Given the description of an element on the screen output the (x, y) to click on. 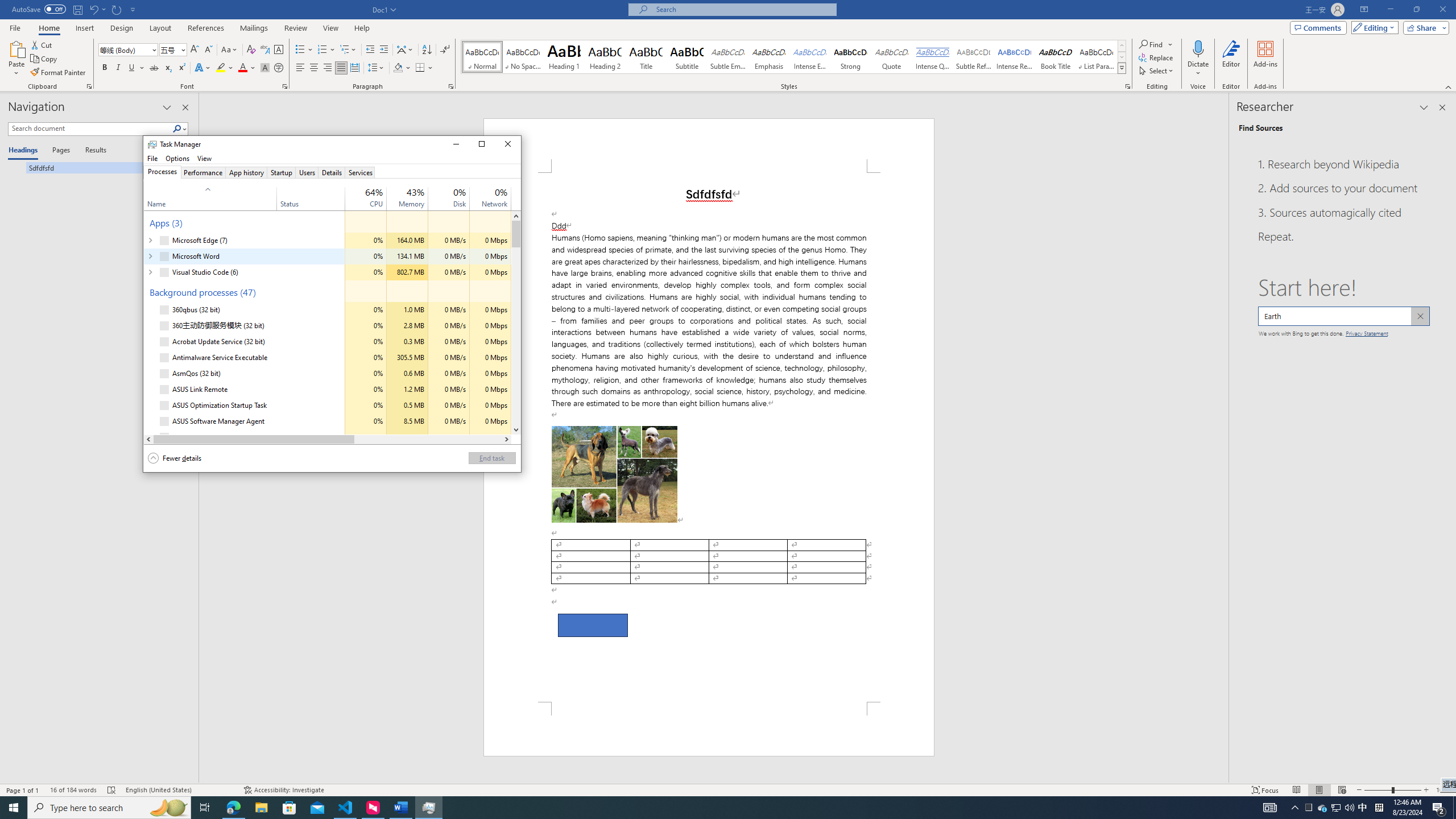
Disk (449, 437)
Tray Input Indicator - Chinese (Simplified, China) (1378, 807)
Find Sources (1260, 127)
Rectangle 2 (592, 625)
AutomationID: 4105 (1270, 807)
